Given the description of an element on the screen output the (x, y) to click on. 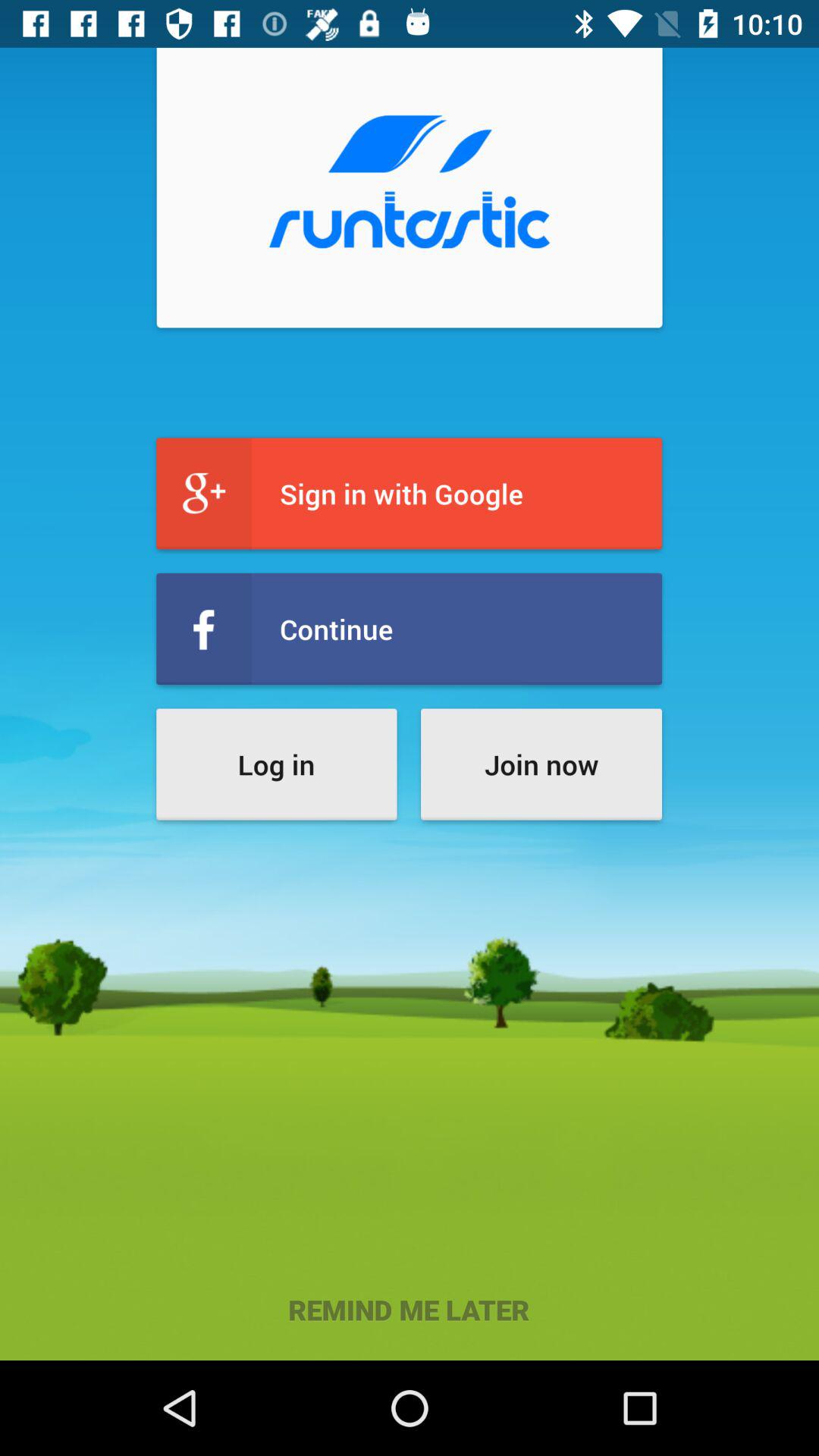
tap sign in with icon (409, 493)
